Given the description of an element on the screen output the (x, y) to click on. 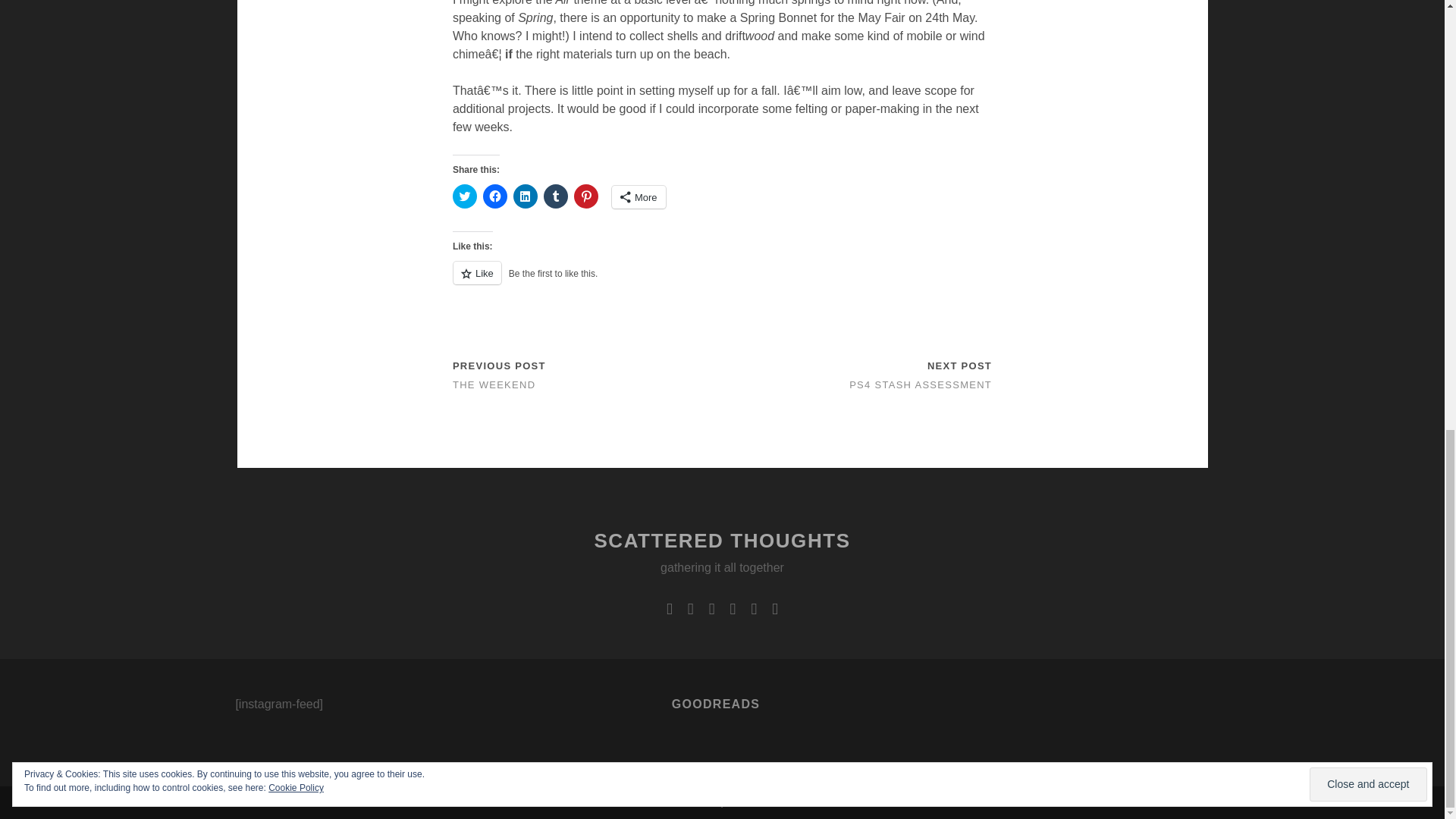
Click to share on Facebook (494, 196)
More (638, 196)
Click to share on Pinterest (585, 196)
Click to share on Tumblr (555, 196)
Click to share on Twitter (464, 196)
Click to share on LinkedIn (525, 196)
PS4 STASH ASSESSMENT (919, 384)
SCATTERED THOUGHTS (722, 540)
THE WEEKEND (493, 384)
